Given the description of an element on the screen output the (x, y) to click on. 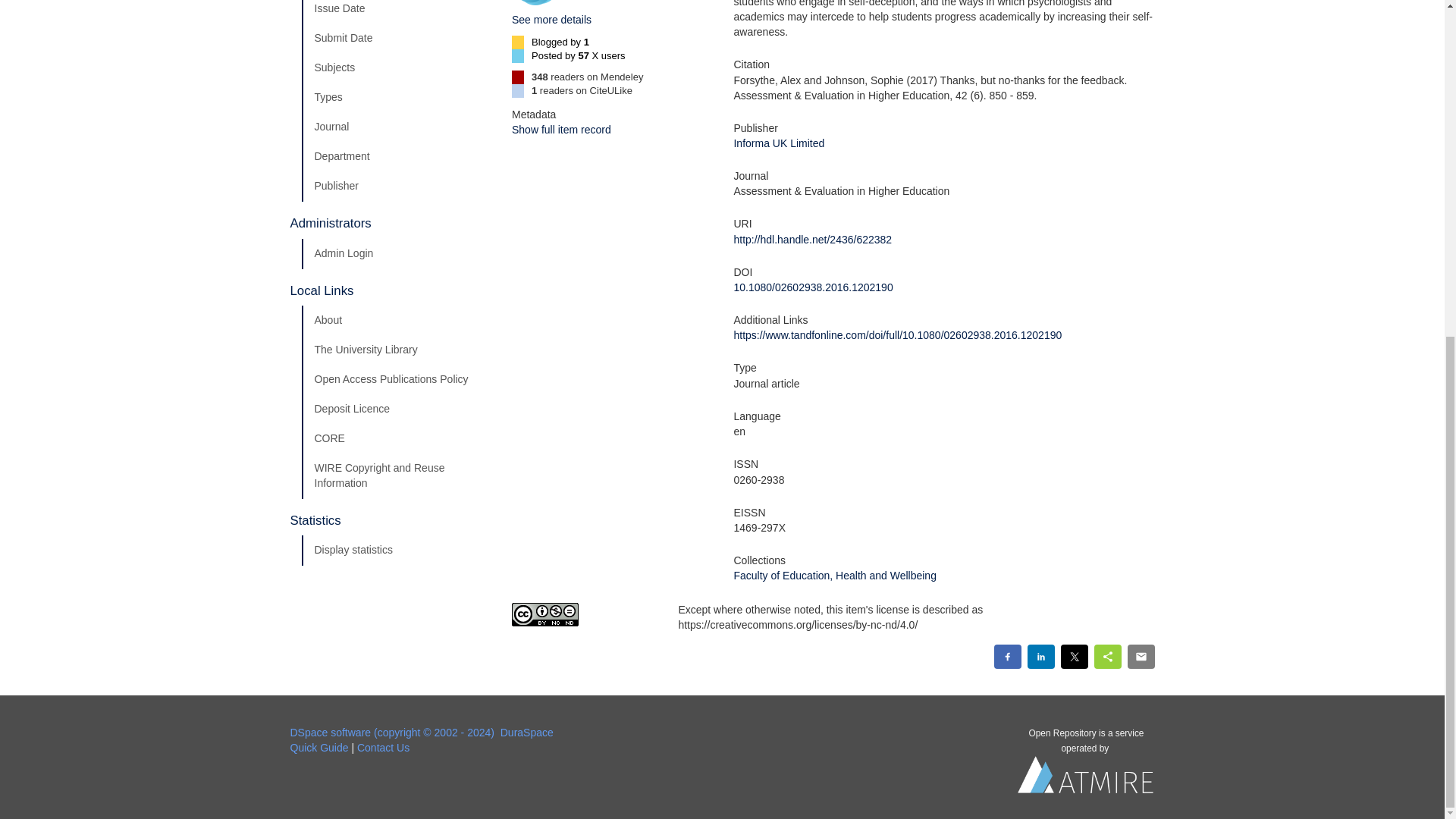
Publisher (395, 186)
The University Library (395, 349)
Atmire NV (1085, 778)
Admin Login (395, 254)
Issue Date (395, 12)
Department (395, 156)
About (395, 320)
CORE (395, 439)
Subjects (395, 68)
Deposit Licence (395, 409)
Types (395, 97)
Open Access Publications Policy (395, 379)
Journal (395, 127)
Submit Date (395, 38)
